Given the description of an element on the screen output the (x, y) to click on. 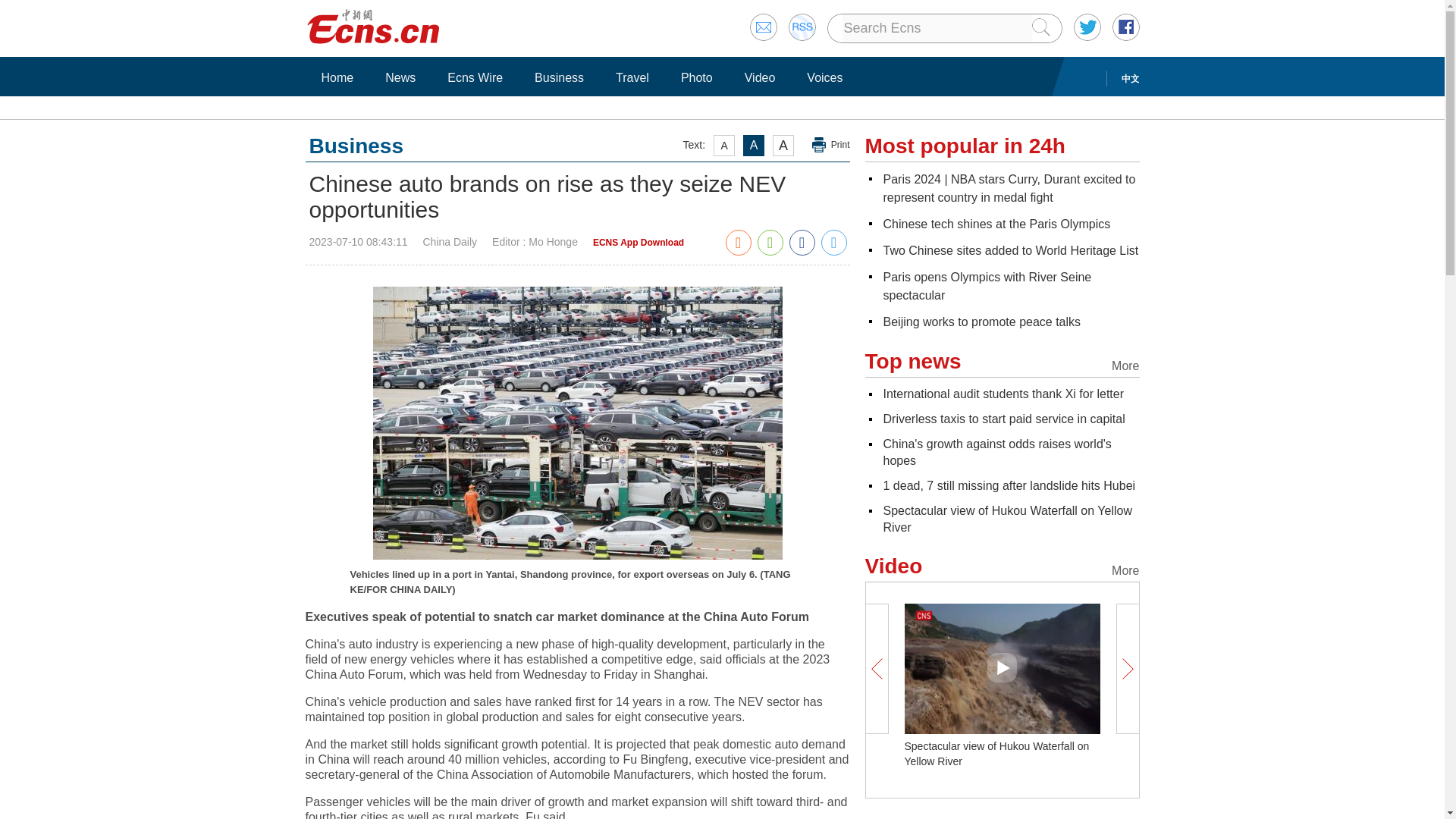
Paris (986, 286)
ECNS App Download (638, 242)
Search Ecns (935, 27)
Beijing (981, 321)
Voices (823, 77)
Print (831, 144)
Business (558, 77)
Ecns Wire (475, 77)
Video (760, 77)
Photo (696, 77)
Two (1010, 250)
Paris (1008, 187)
Travel (632, 77)
News (400, 77)
Chinese (995, 223)
